Given the description of an element on the screen output the (x, y) to click on. 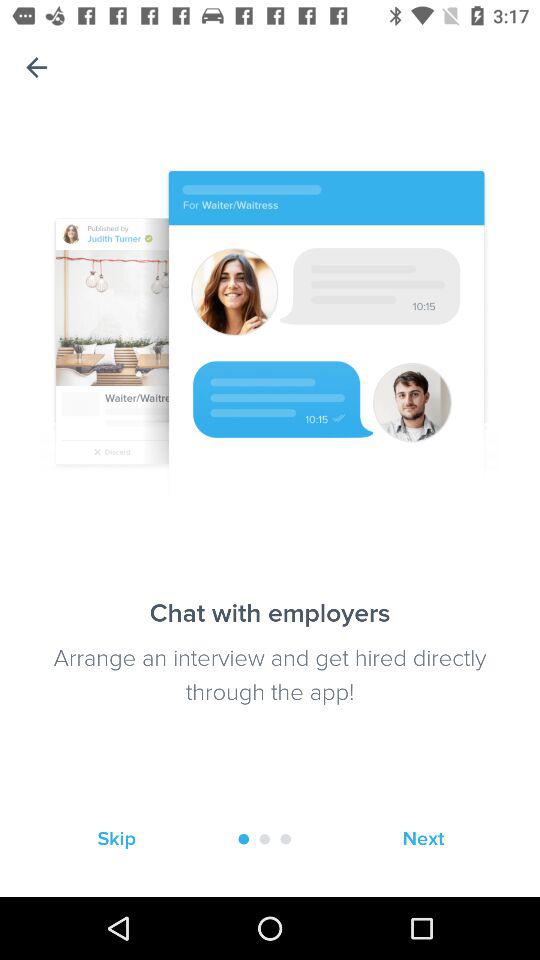
turn on the icon at the bottom right corner (423, 838)
